Given the description of an element on the screen output the (x, y) to click on. 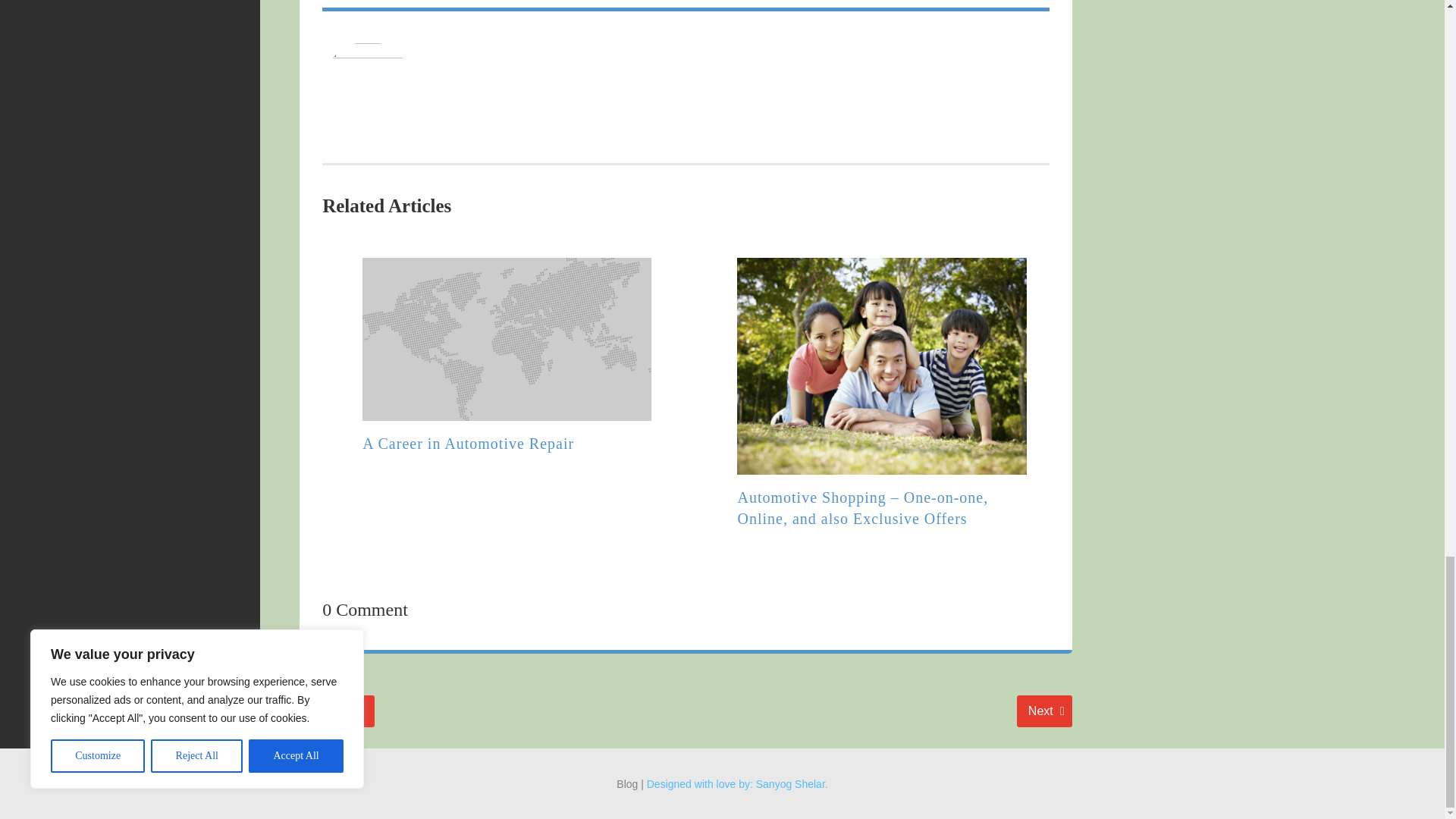
A Career in Automotive Repair (1043, 711)
